Given the description of an element on the screen output the (x, y) to click on. 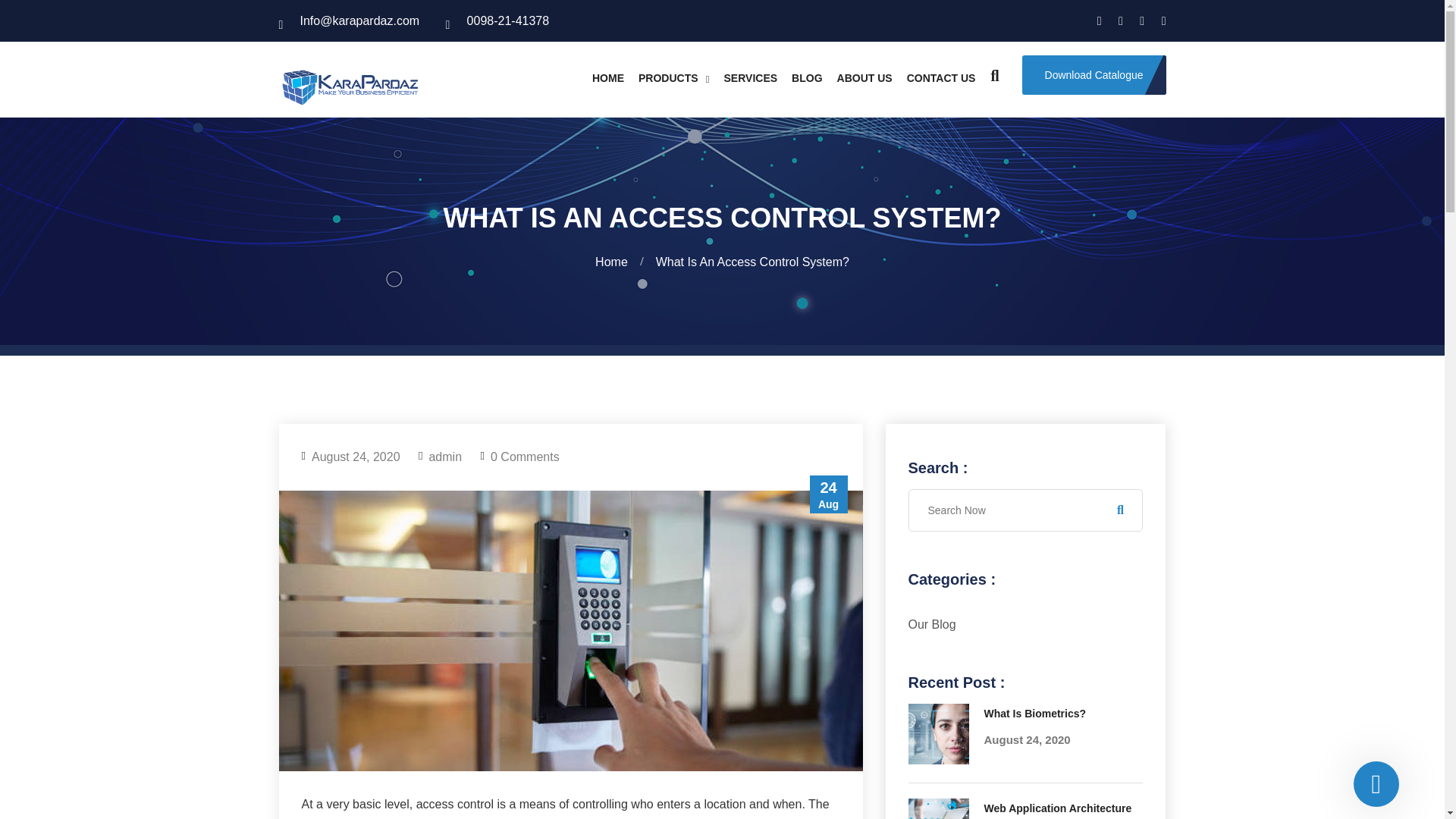
CONTACT US (941, 77)
0098-21-41378 (497, 20)
KaraPardaz Corp (349, 83)
Download Catalogue (1094, 75)
PRODUCTS (674, 77)
